Given the description of an element on the screen output the (x, y) to click on. 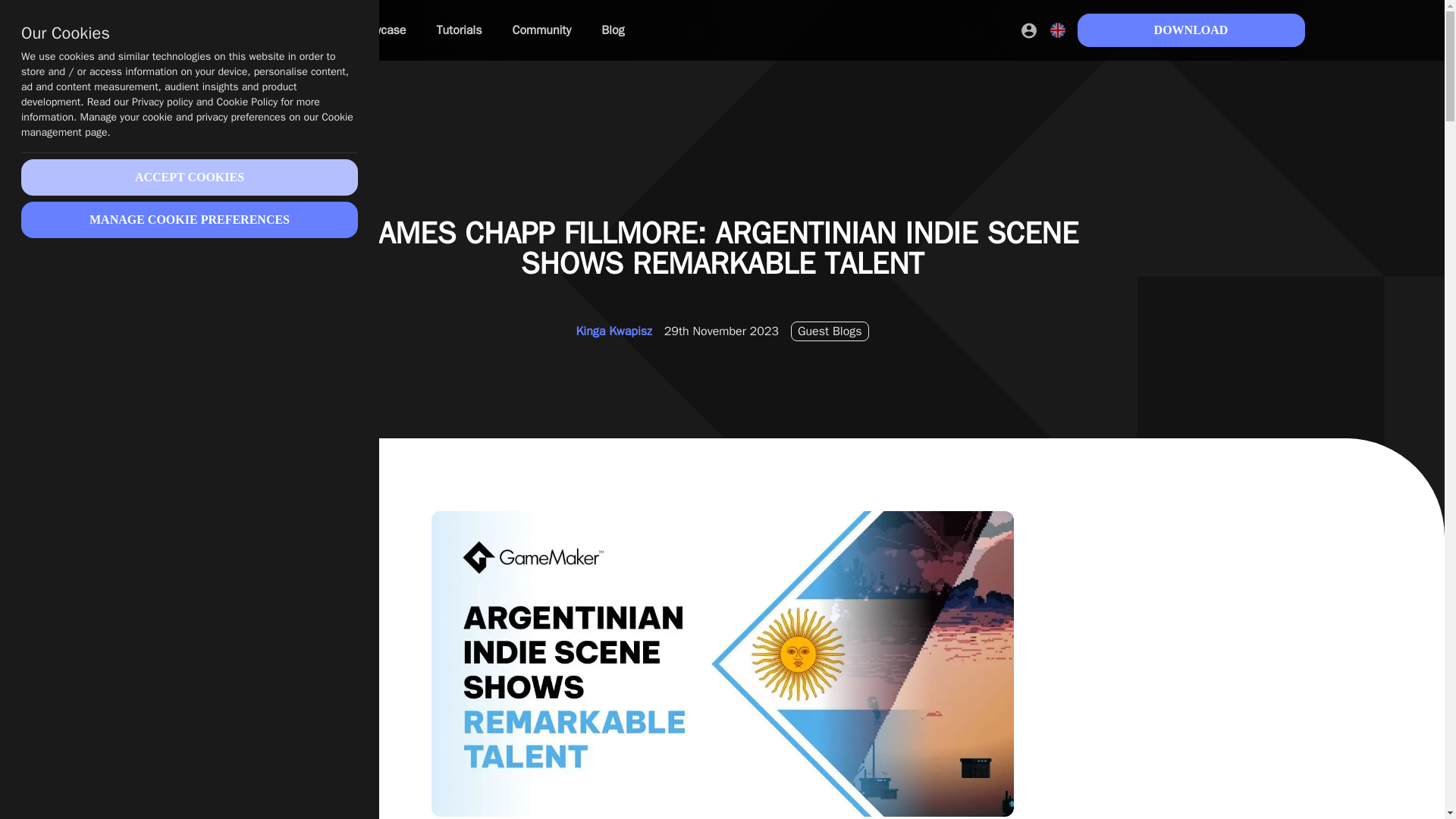
Kinga Kwapisz (612, 331)
Cookie Policy (247, 101)
Privacy policy (162, 101)
DOWNLOAD (1190, 29)
ACCEPT COOKIES (189, 176)
Tutorials (458, 30)
Community (541, 30)
Guest Blogs (829, 331)
Showcase (378, 30)
